Given the description of an element on the screen output the (x, y) to click on. 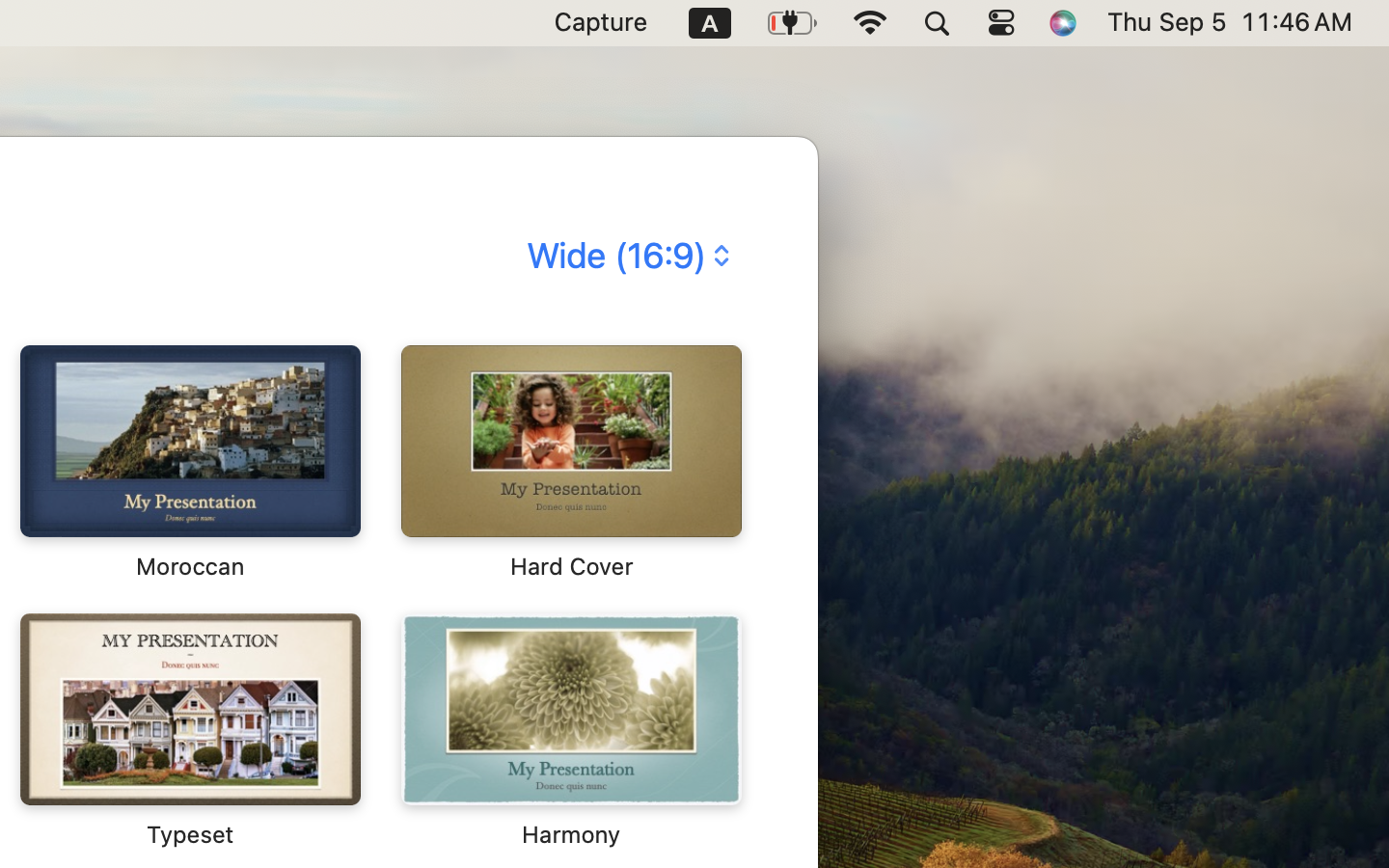
‎⁨Moroccan⁩ Element type: AXButton (189, 462)
‎⁨Typeset⁩ Element type: AXButton (189, 731)
‎⁨Hard Cover⁩ Element type: AXButton (569, 462)
Wide (16:9) Element type: AXPopUpButton (625, 255)
‎⁨Harmony⁩ Element type: AXButton (569, 731)
